Given the description of an element on the screen output the (x, y) to click on. 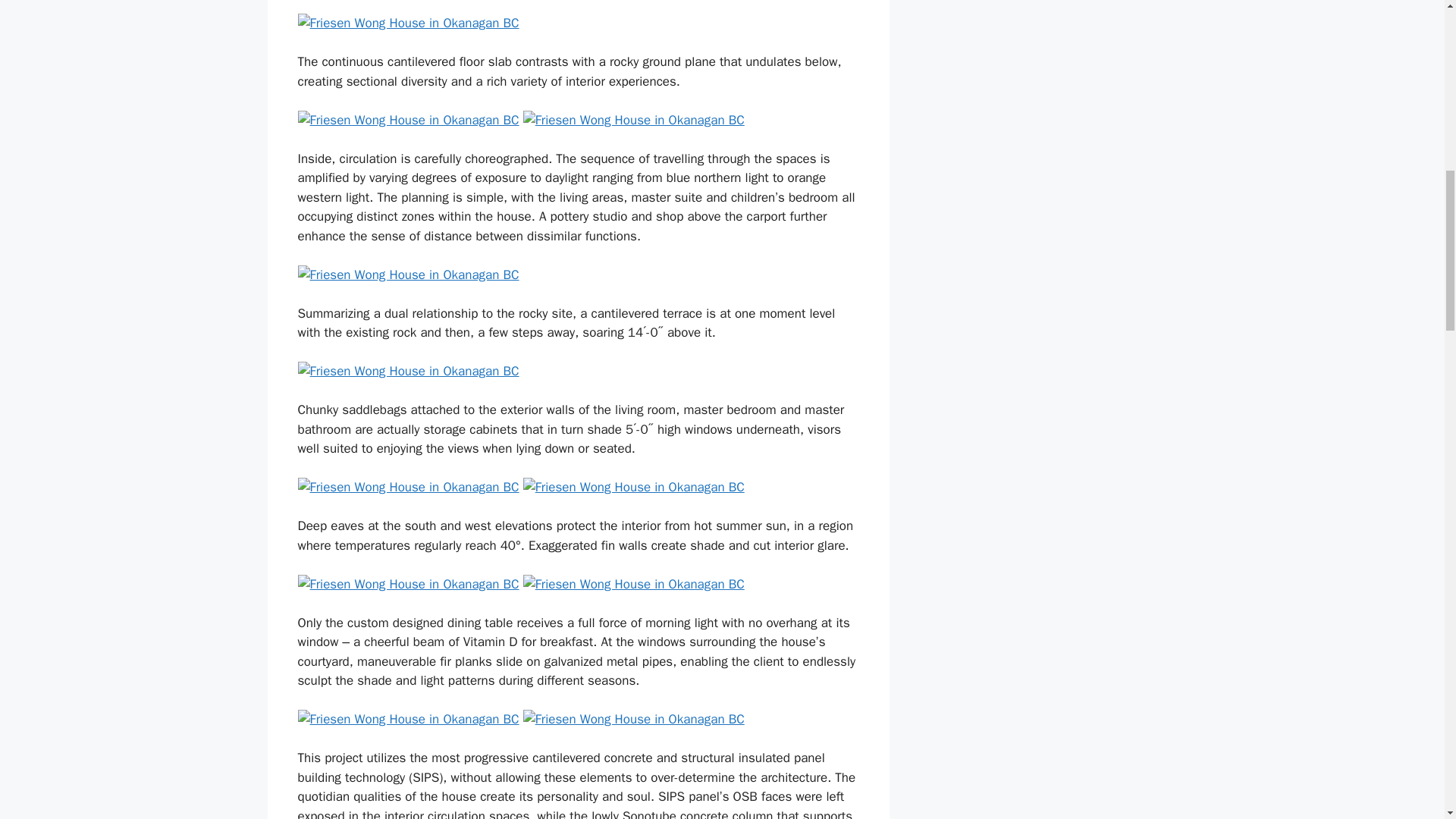
Scroll back to top (1406, 720)
